Given the description of an element on the screen output the (x, y) to click on. 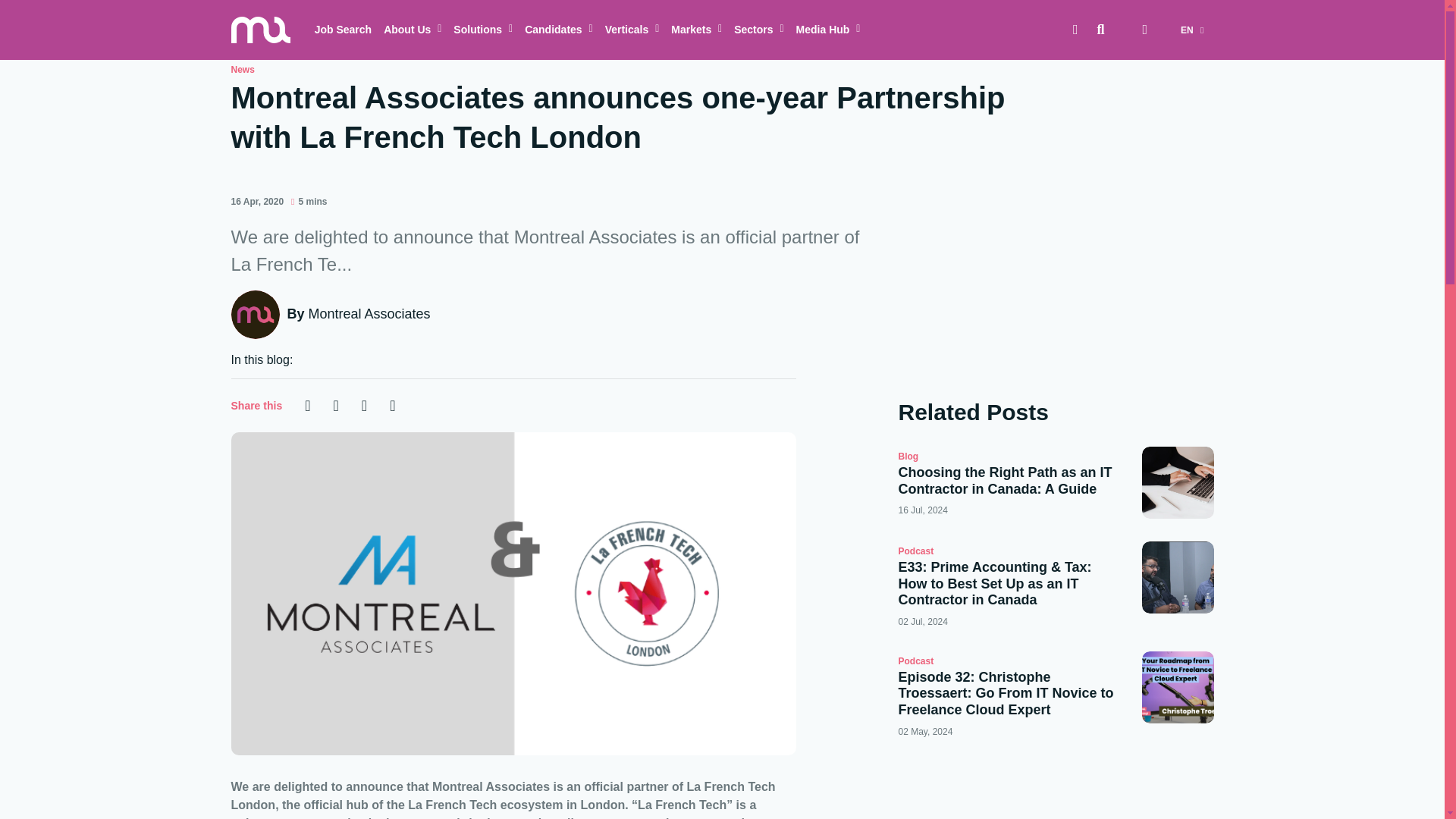
Solutions (482, 29)
Job Search (342, 29)
Markets (696, 29)
Candidates (558, 29)
Verticals (631, 29)
About Us (411, 29)
